Given the description of an element on the screen output the (x, y) to click on. 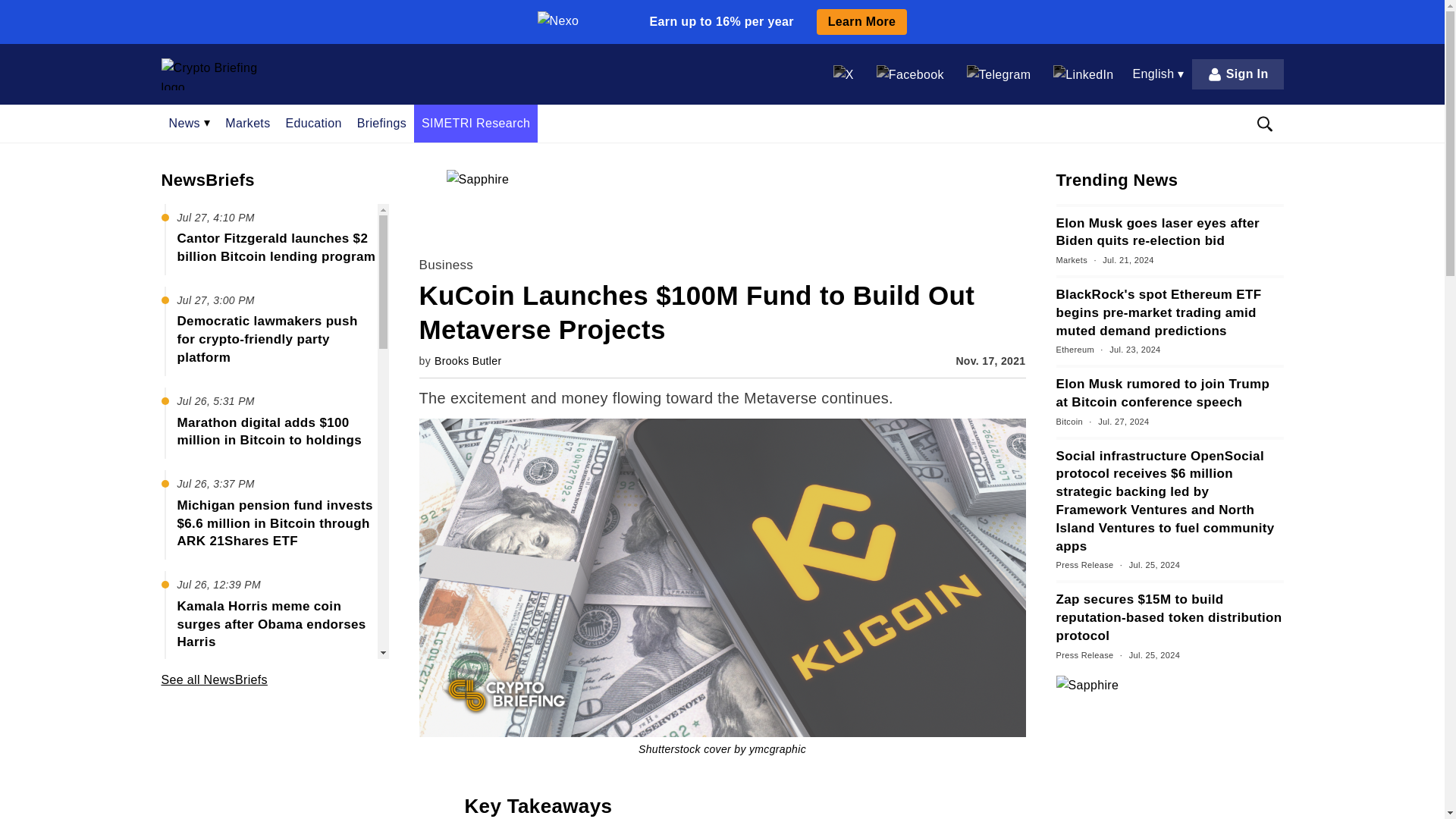
News (188, 123)
Sign In (1238, 73)
Sign In (1238, 73)
Learn More (861, 22)
